Given the description of an element on the screen output the (x, y) to click on. 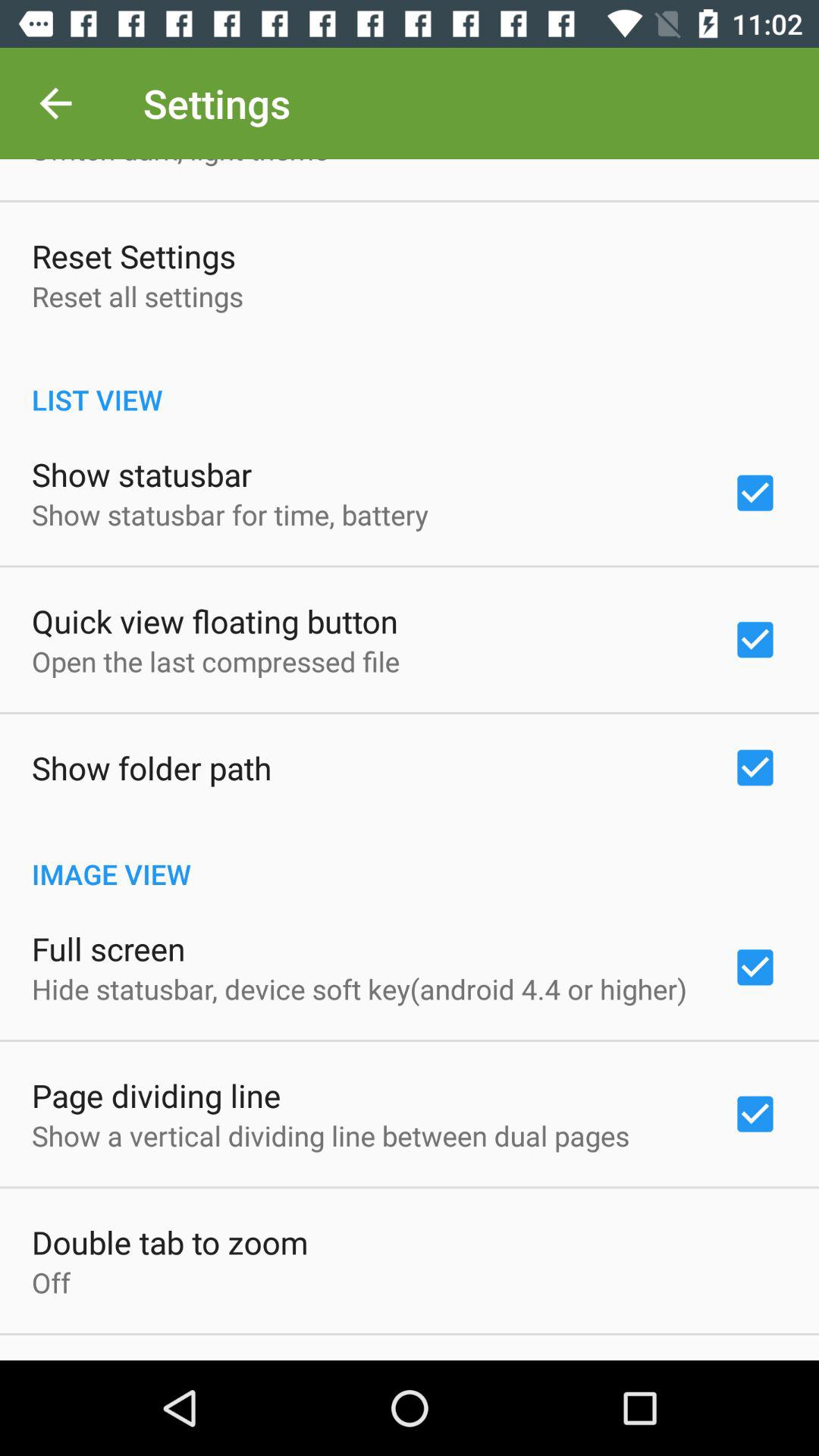
select icon next to settings (55, 103)
